Given the description of an element on the screen output the (x, y) to click on. 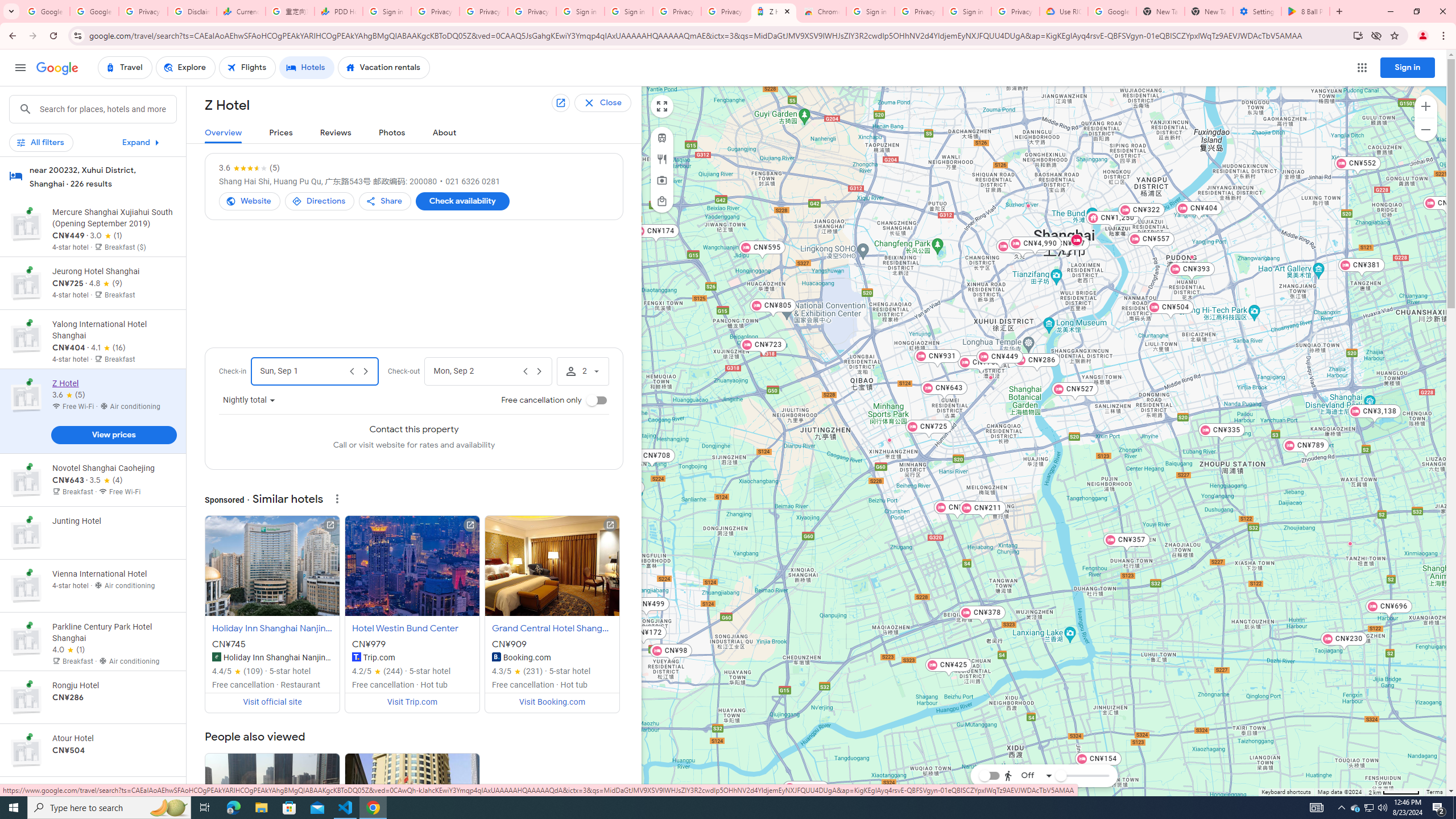
Vacation rentals (383, 67)
View prices for Yalong International Hotel Shanghai (113, 382)
Open Z Hotel in a new tab. (561, 103)
View larger map (661, 106)
